Given the description of an element on the screen output the (x, y) to click on. 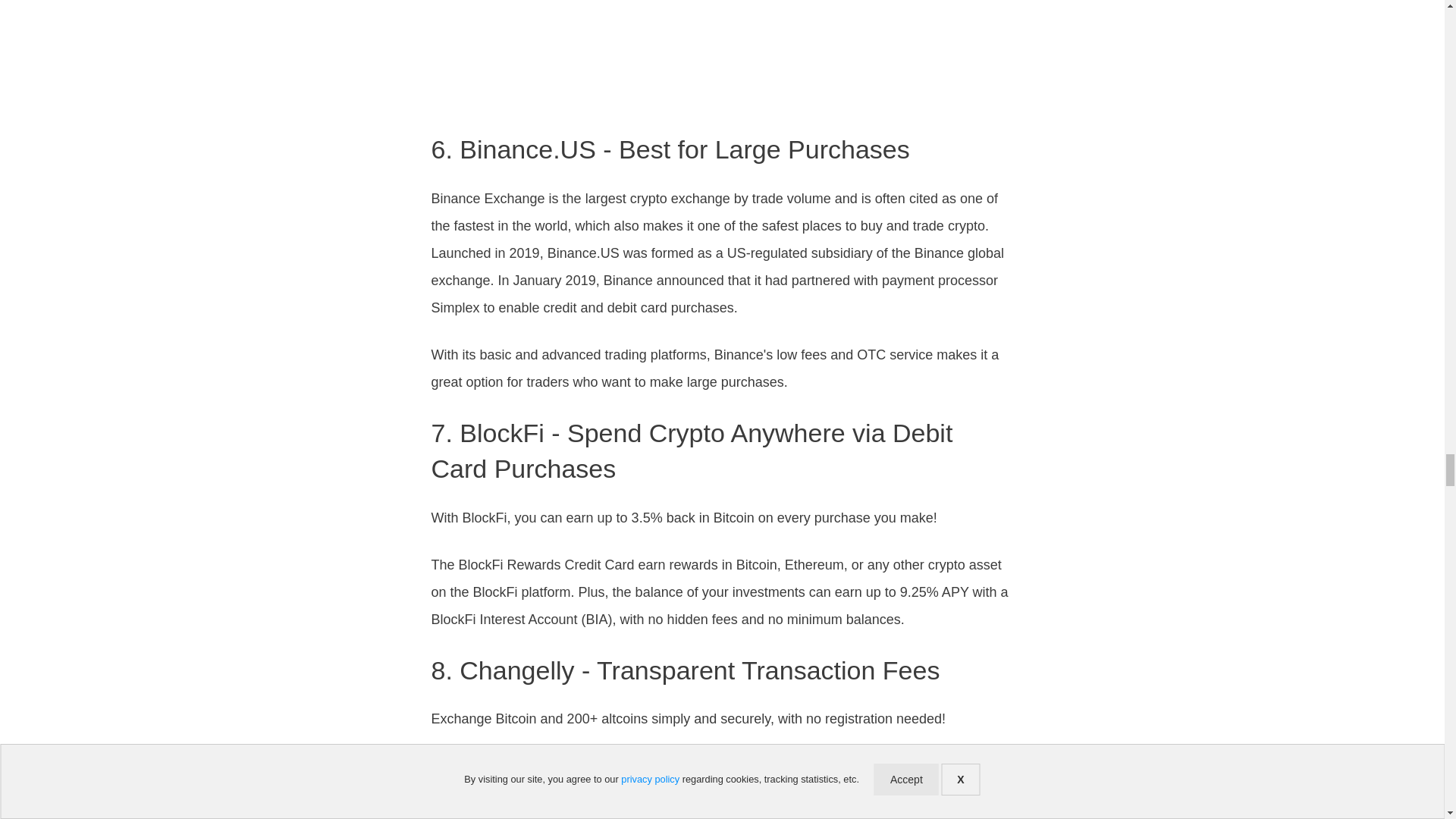
Trading on Alternate Exchanges (722, 58)
